Given the description of an element on the screen output the (x, y) to click on. 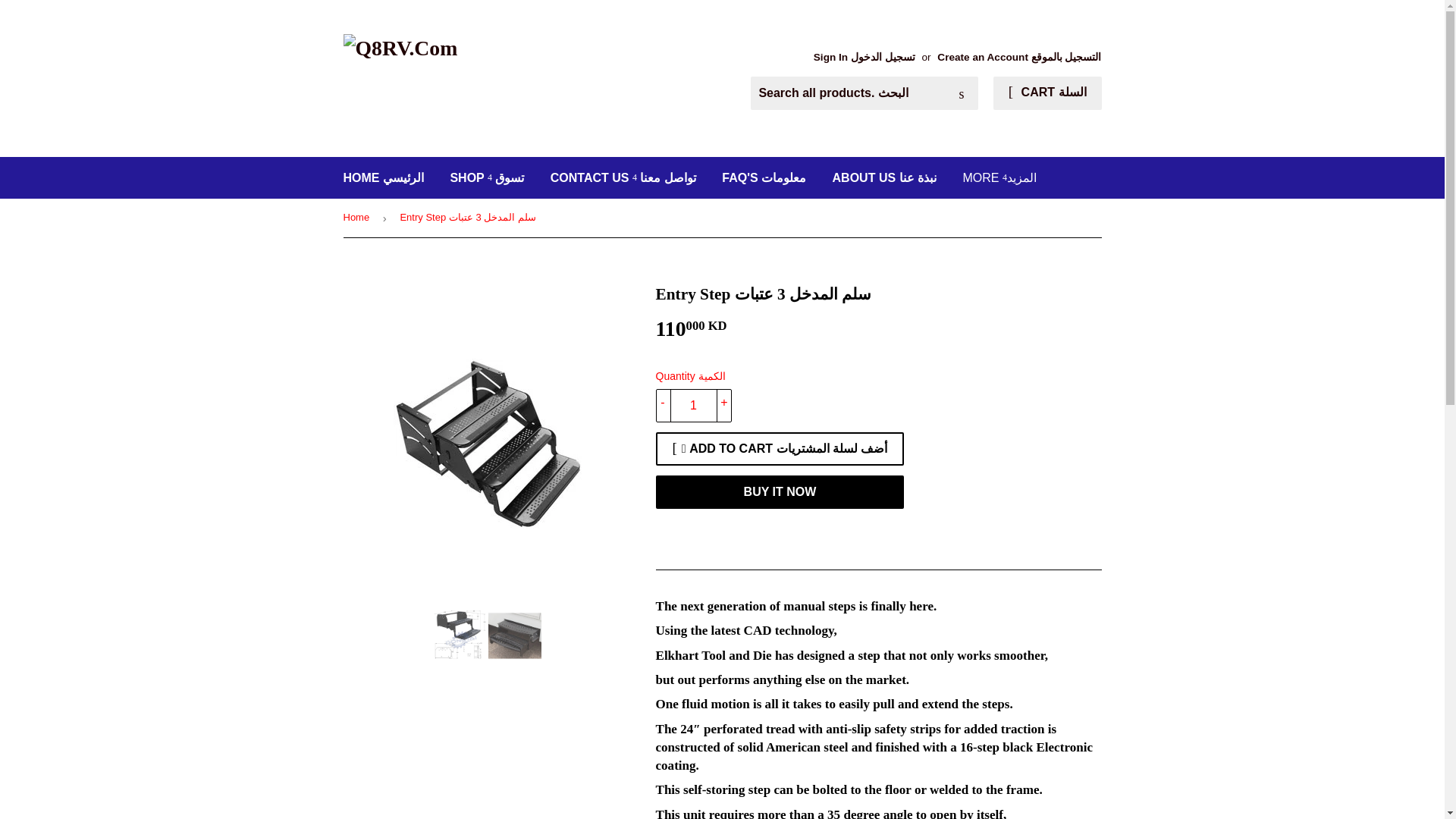
1 (692, 405)
